Given the description of an element on the screen output the (x, y) to click on. 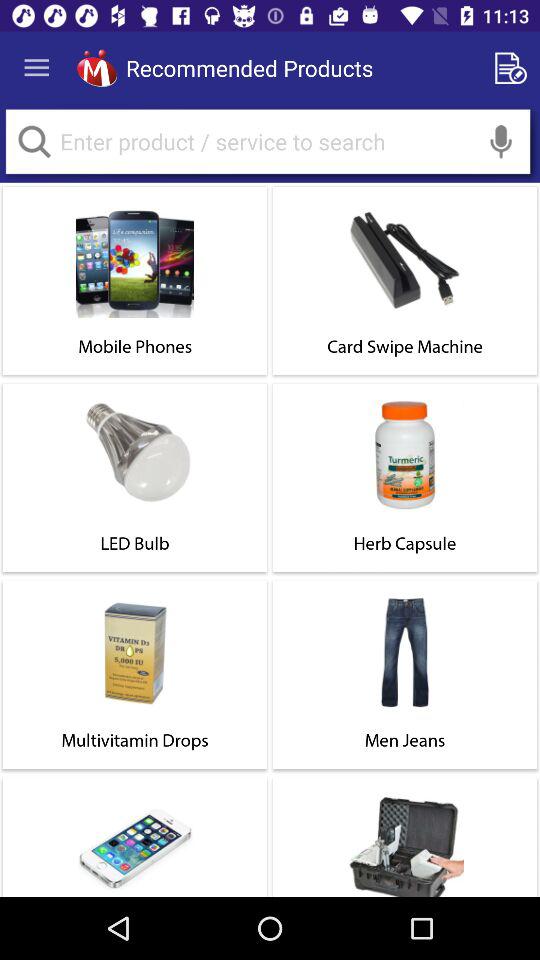
make a note (514, 68)
